Given the description of an element on the screen output the (x, y) to click on. 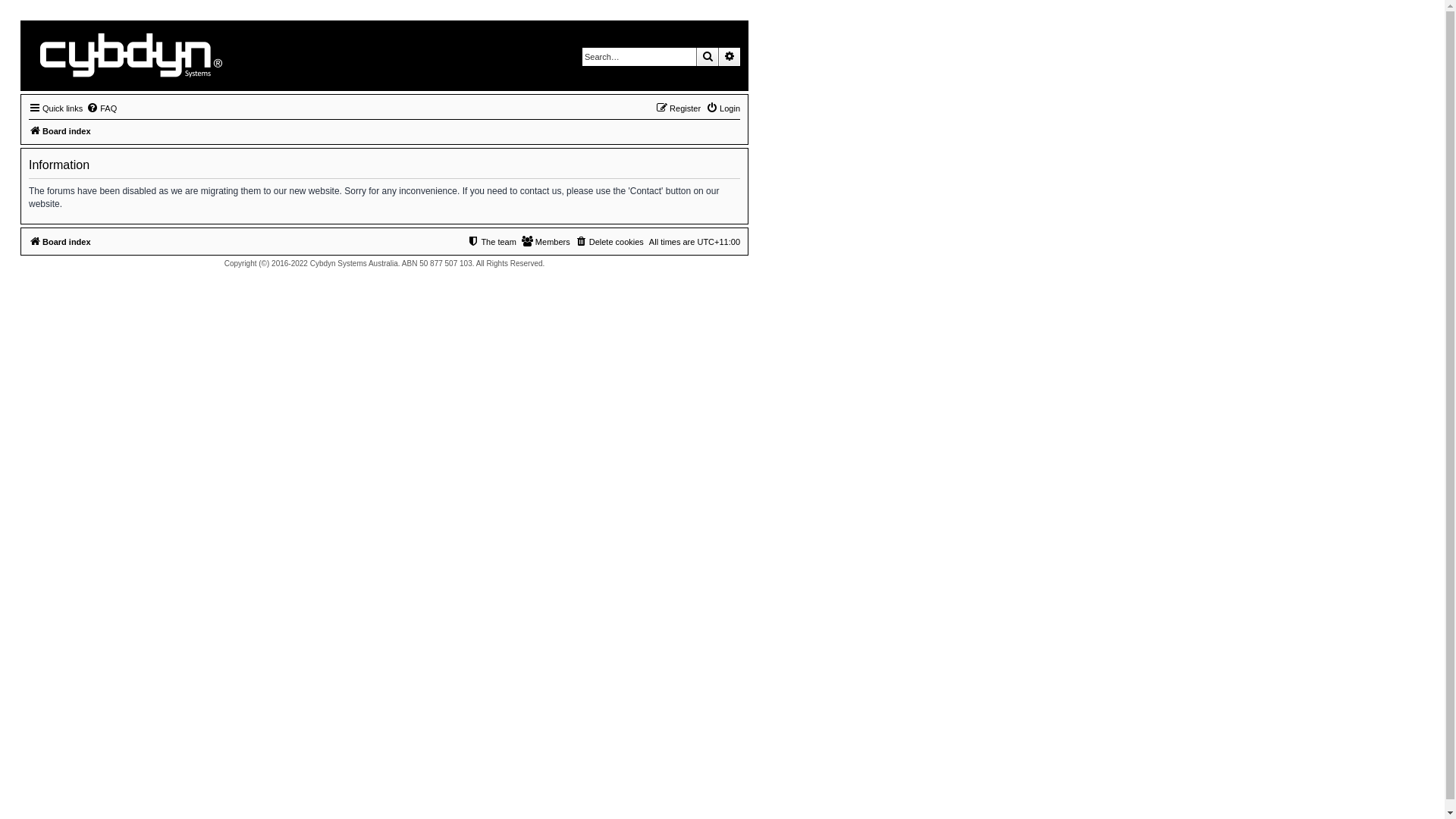
Delete cookies Element type: text (609, 241)
Board index Element type: text (59, 131)
Advanced search Element type: text (729, 56)
FAQ Element type: text (101, 108)
Search Element type: text (707, 56)
Board index Element type: hover (128, 55)
Board index Element type: text (59, 241)
Search for keywords Element type: hover (639, 56)
Members Element type: text (545, 241)
The team Element type: text (491, 241)
Login Element type: text (723, 108)
Quick links Element type: text (55, 108)
Register Element type: text (677, 108)
